Given the description of an element on the screen output the (x, y) to click on. 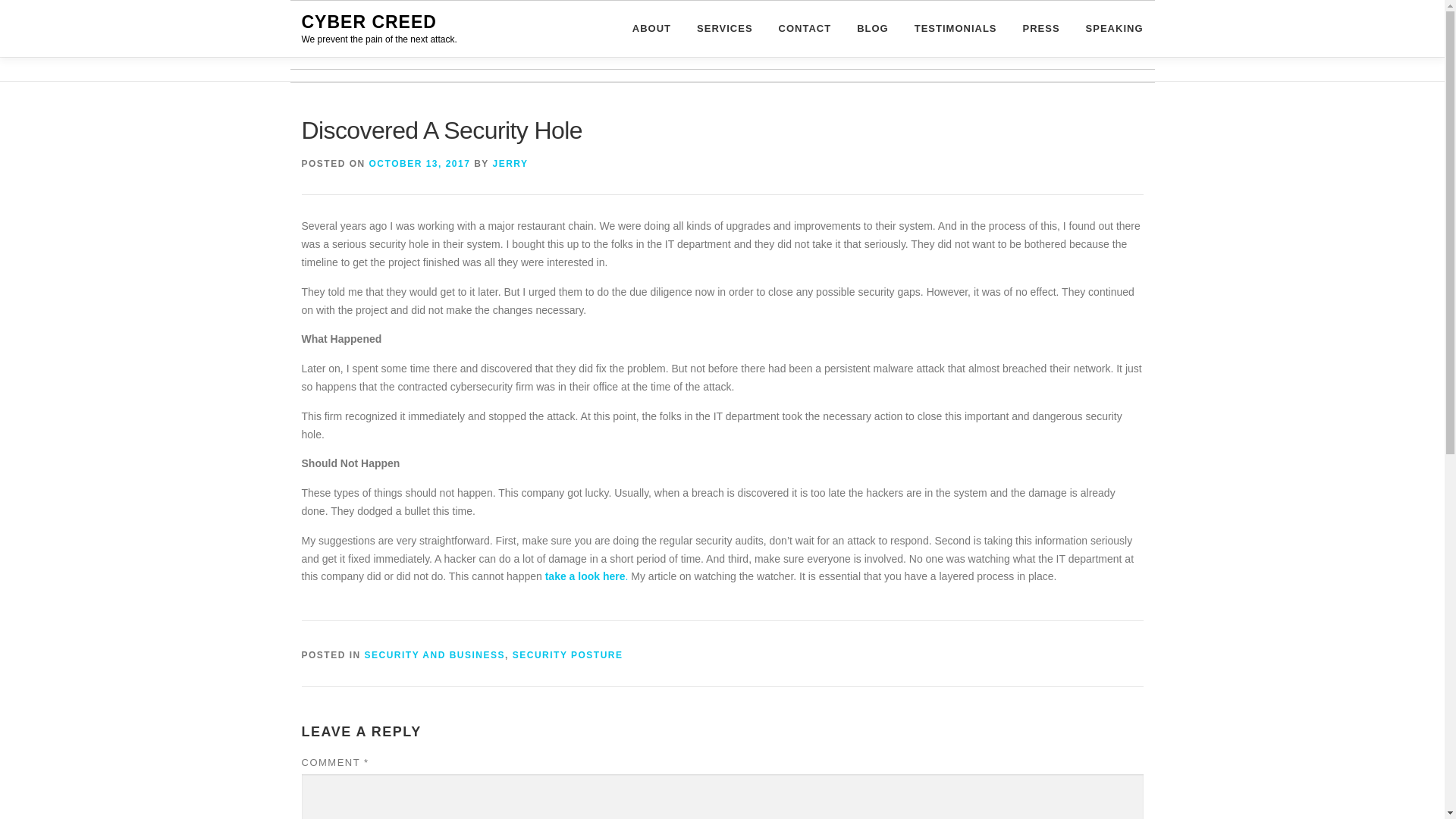
CONTACT (804, 28)
SECURITY POSTURE (567, 655)
OCTOBER 13, 2017 (419, 163)
TESTIMONIALS (955, 28)
take a look here. (584, 576)
PRESS (1041, 28)
BLOG (872, 28)
JERRY (509, 163)
SECURITY AND BUSINESS (435, 655)
CYBER CREED (368, 21)
SPEAKING (1107, 28)
SERVICES (724, 28)
ABOUT (652, 28)
